Given the description of an element on the screen output the (x, y) to click on. 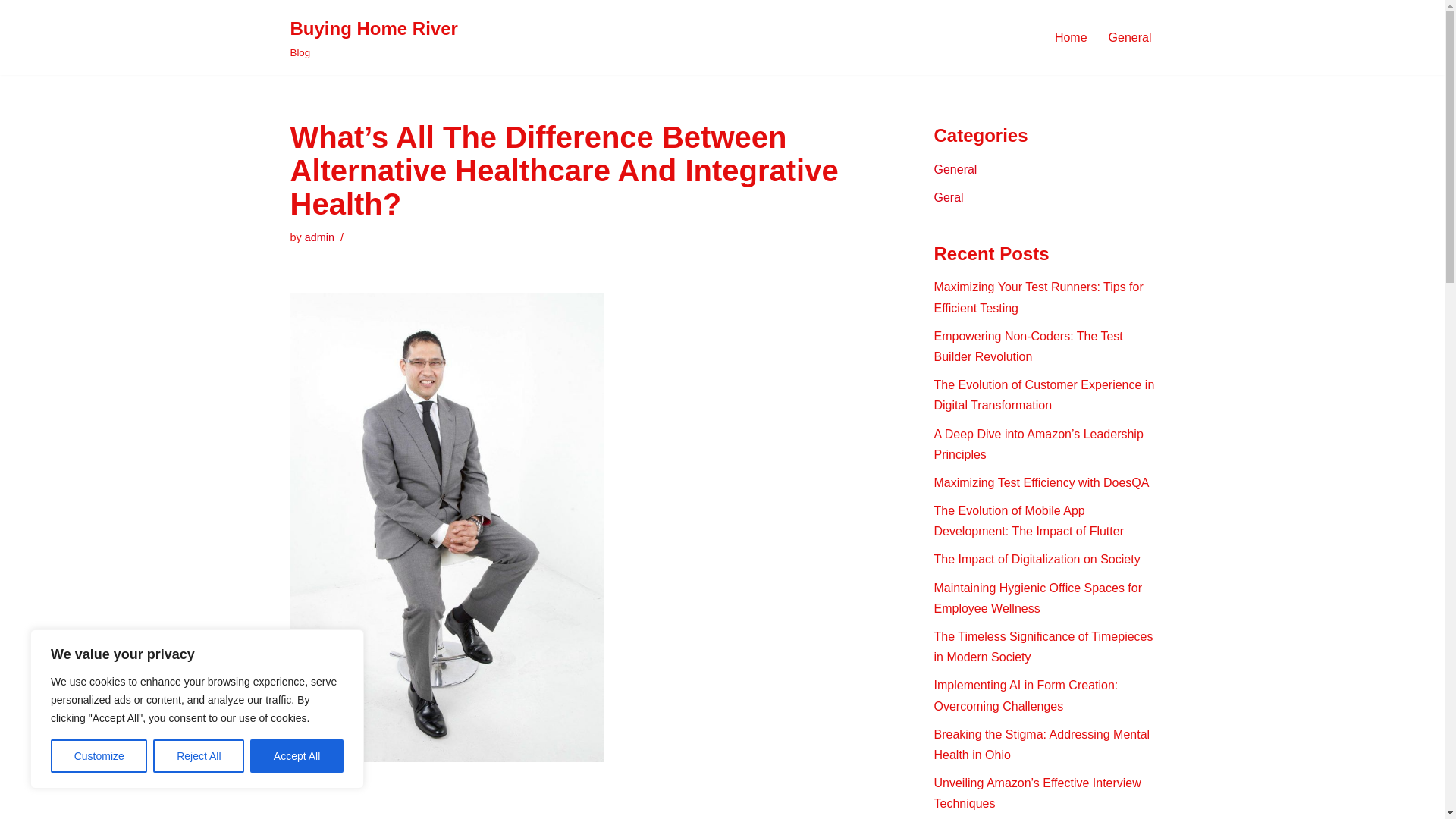
Geral (948, 196)
Maximizing Test Efficiency with DoesQA (1042, 481)
Accept All (296, 756)
General (955, 169)
Home (1070, 37)
Reject All (198, 756)
Maximizing Your Test Runners: Tips for Efficient Testing (1038, 296)
General (1129, 37)
Skip to content (11, 31)
